Given the description of an element on the screen output the (x, y) to click on. 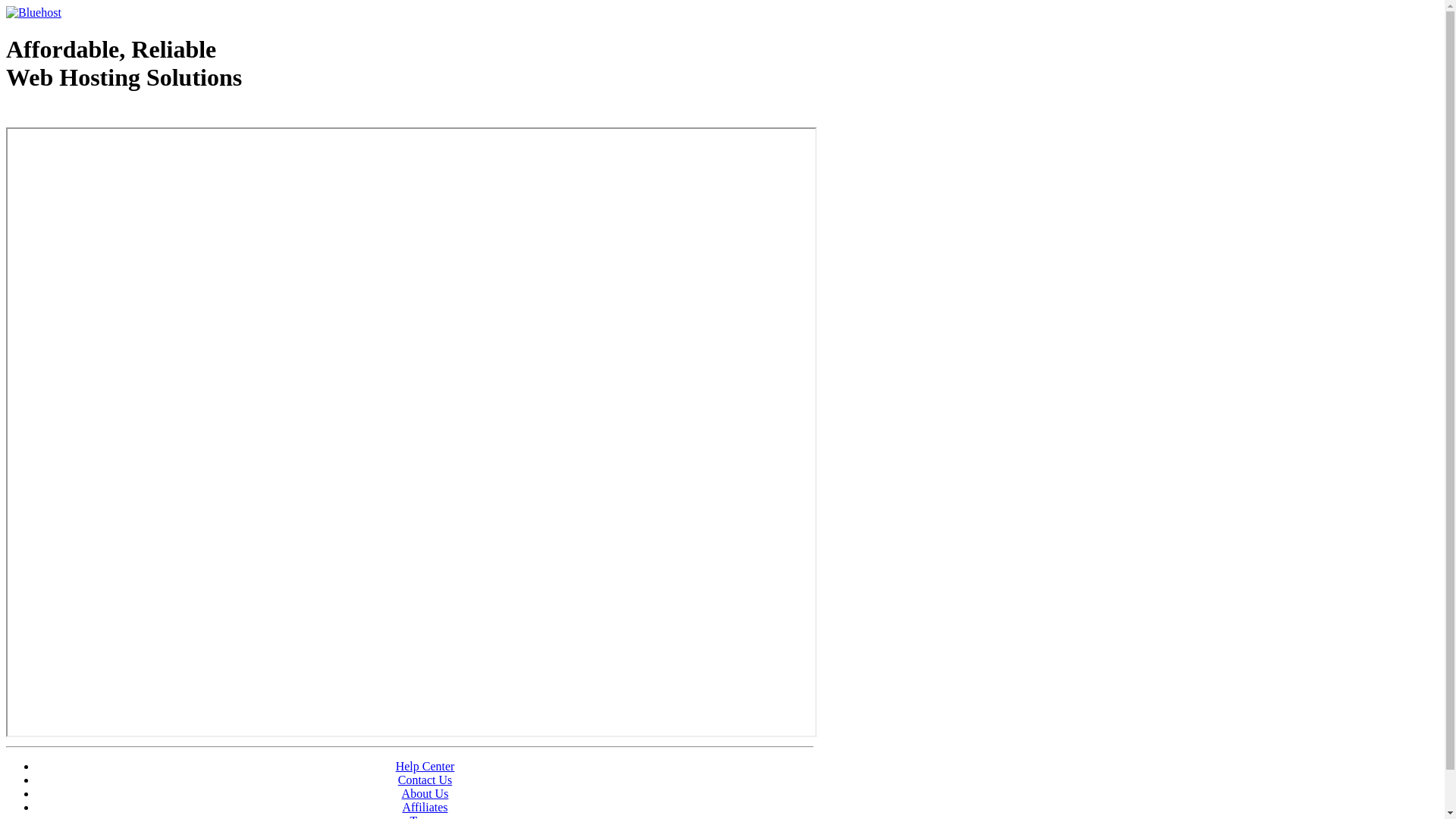
Affiliates Element type: text (424, 806)
Web Hosting - courtesy of www.bluehost.com Element type: text (94, 115)
About Us Element type: text (424, 793)
Help Center Element type: text (425, 765)
Contact Us Element type: text (425, 779)
